Given the description of an element on the screen output the (x, y) to click on. 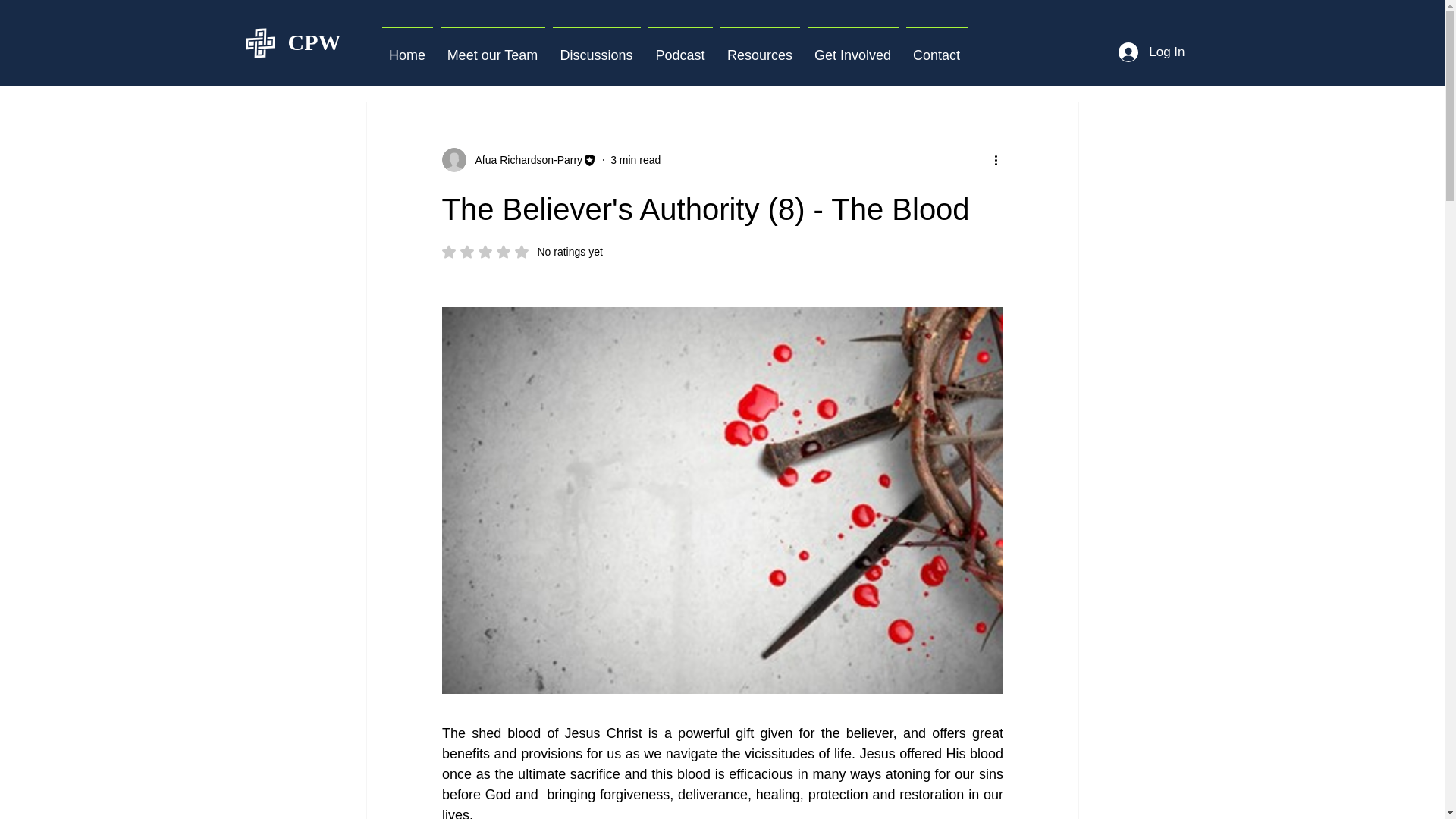
Afua Richardson-Parry (523, 159)
Discussions (521, 251)
Home (596, 48)
Afua Richardson-Parry (406, 48)
Log In (518, 159)
3 min read (1151, 51)
Podcast (635, 159)
Contact (680, 48)
